Given the description of an element on the screen output the (x, y) to click on. 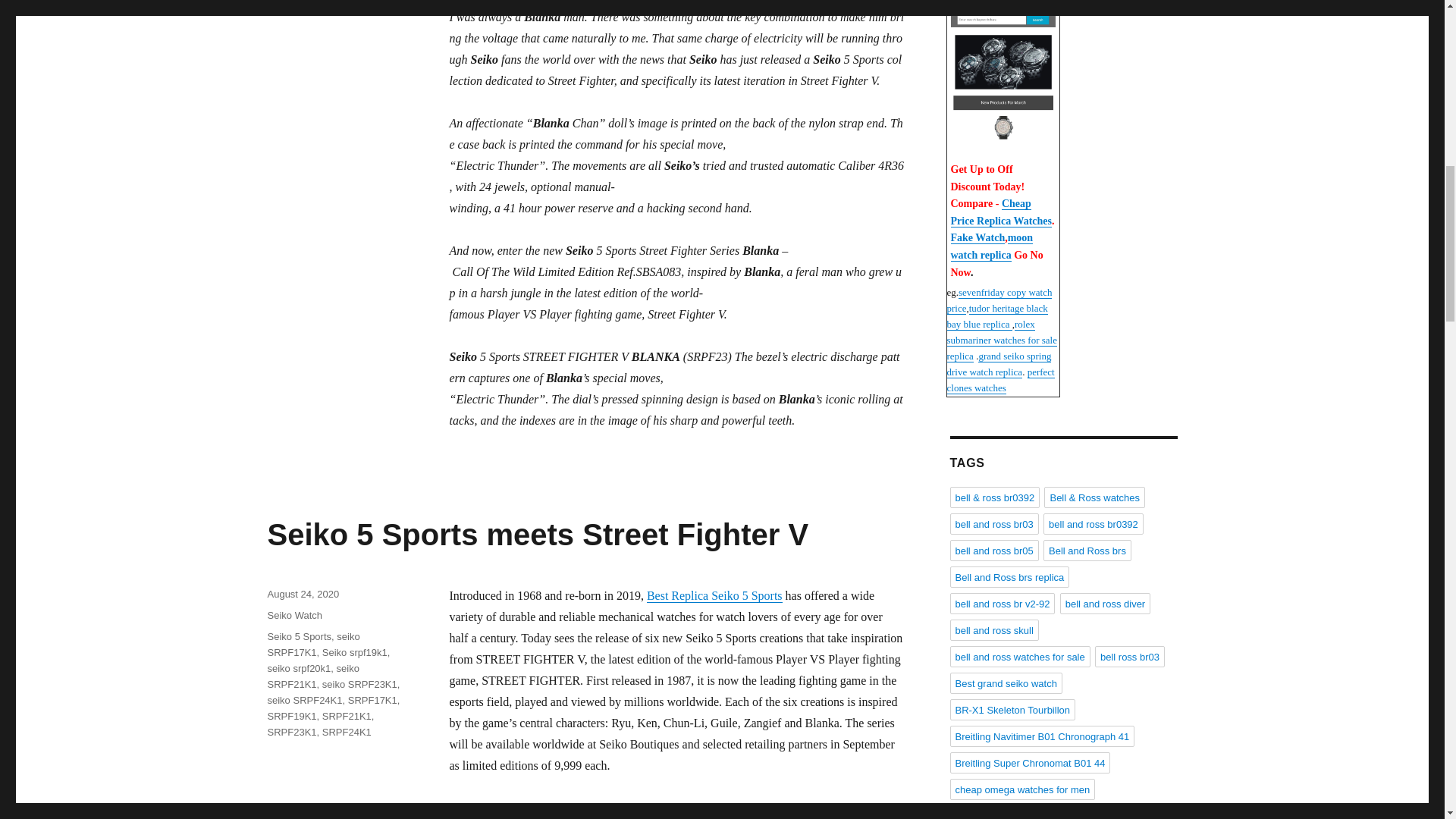
SRPF19K1 (290, 715)
Seiko 5 Sports meets Street Fighter V (537, 534)
SRPF17K1 (372, 699)
seiko SRPF24K1 (304, 699)
seiko SRPF21K1 (312, 676)
seiko SRPF23K1 (359, 684)
SRPF21K1 (346, 715)
August 24, 2020 (302, 593)
Click Now (1002, 79)
seiko srpf20k1 (298, 668)
Seiko srpf19k1 (354, 652)
Seiko 5 Sports (298, 636)
SRPF19K1 (595, 807)
SRPF24K1 (346, 731)
Best Replica Seiko 5 Sports (714, 594)
